Given the description of an element on the screen output the (x, y) to click on. 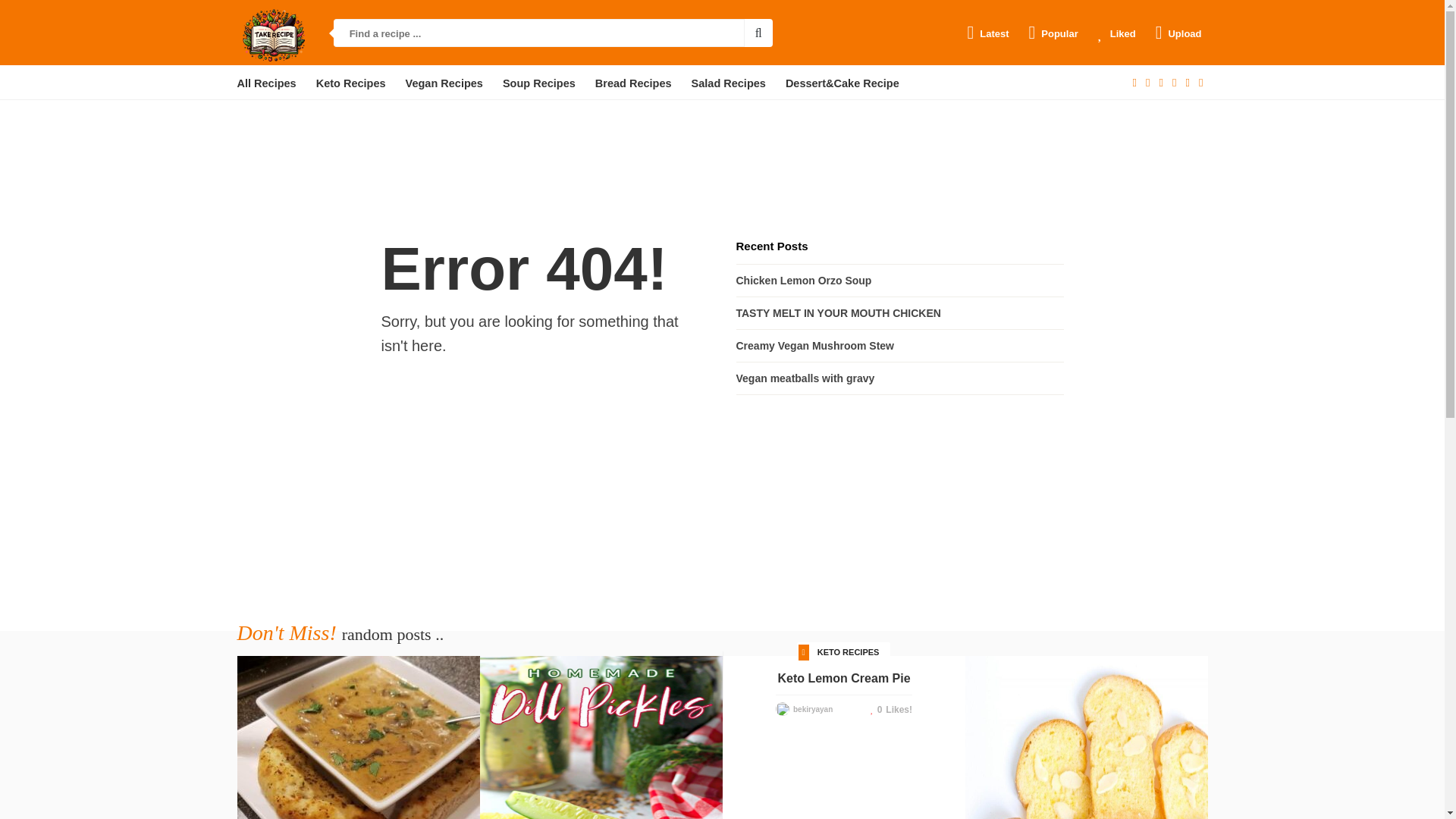
Latest (987, 33)
Posts by bekiryayan (812, 709)
Liked (1116, 33)
Popular (1053, 33)
Creamy Vegan Mushroom Stew (814, 345)
Vegan Recipes (443, 82)
Keto Recipes (350, 82)
All Recipes (265, 82)
Keto Lemon Cream Pie (842, 678)
Chicken Lemon Orzo Soup (802, 280)
